Given the description of an element on the screen output the (x, y) to click on. 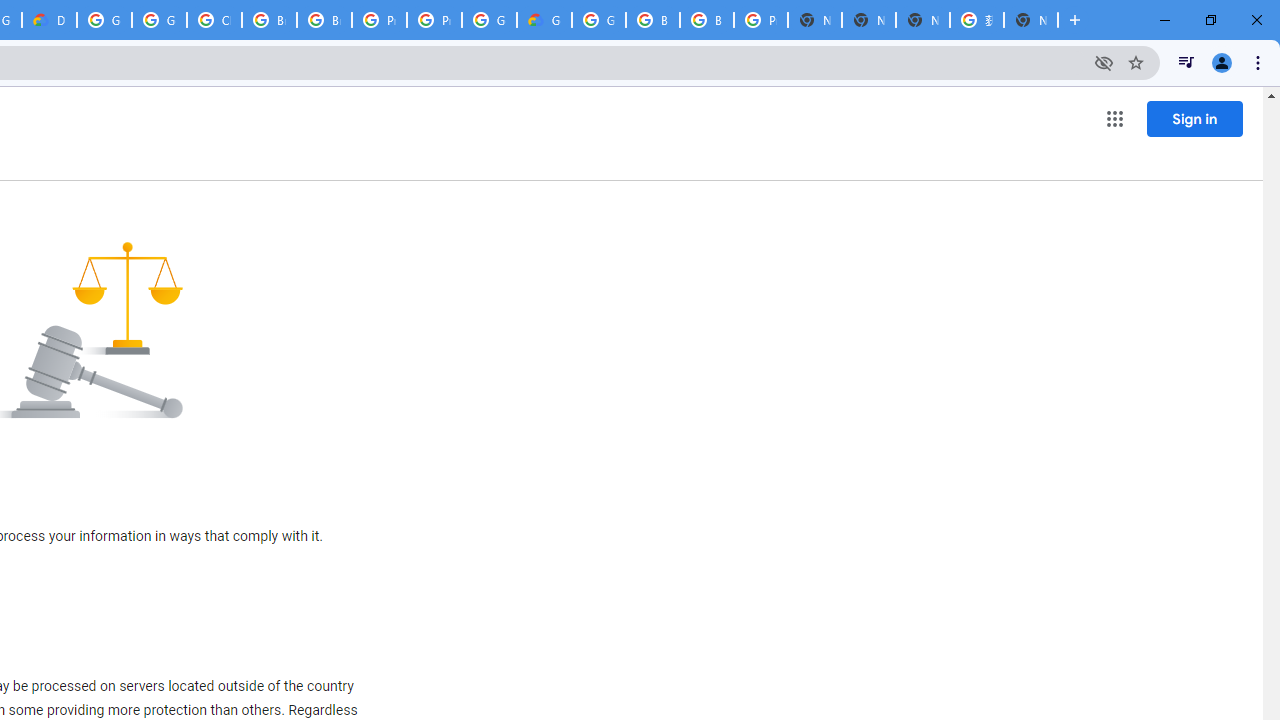
Google Cloud Platform (489, 20)
New Tab (815, 20)
Google Cloud Platform (598, 20)
New Tab (1030, 20)
